Given the description of an element on the screen output the (x, y) to click on. 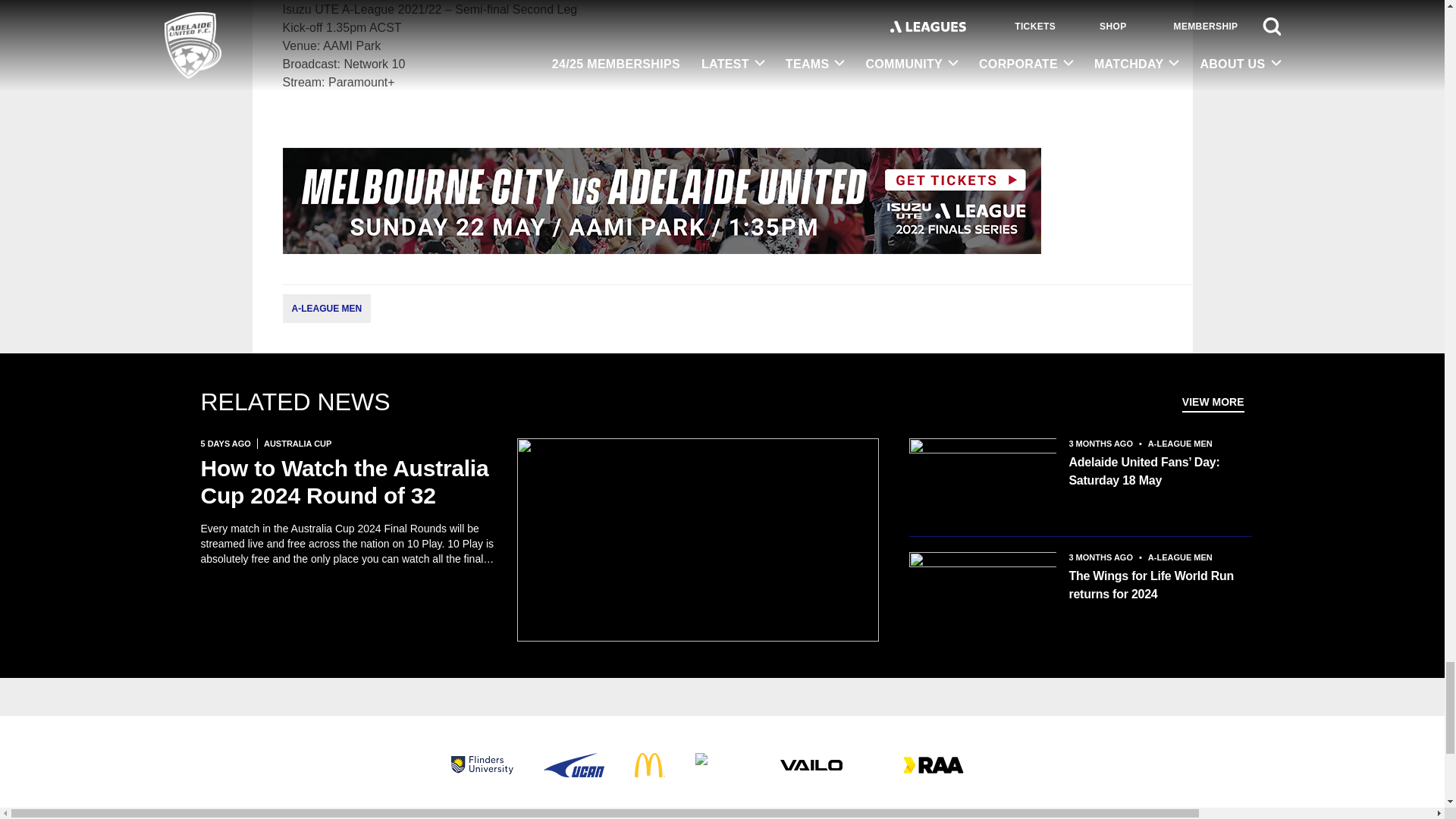
RAA (932, 764)
Kite Property (721, 764)
VAILO (809, 764)
Flinders University (480, 764)
UCAN (573, 764)
